Given the description of an element on the screen output the (x, y) to click on. 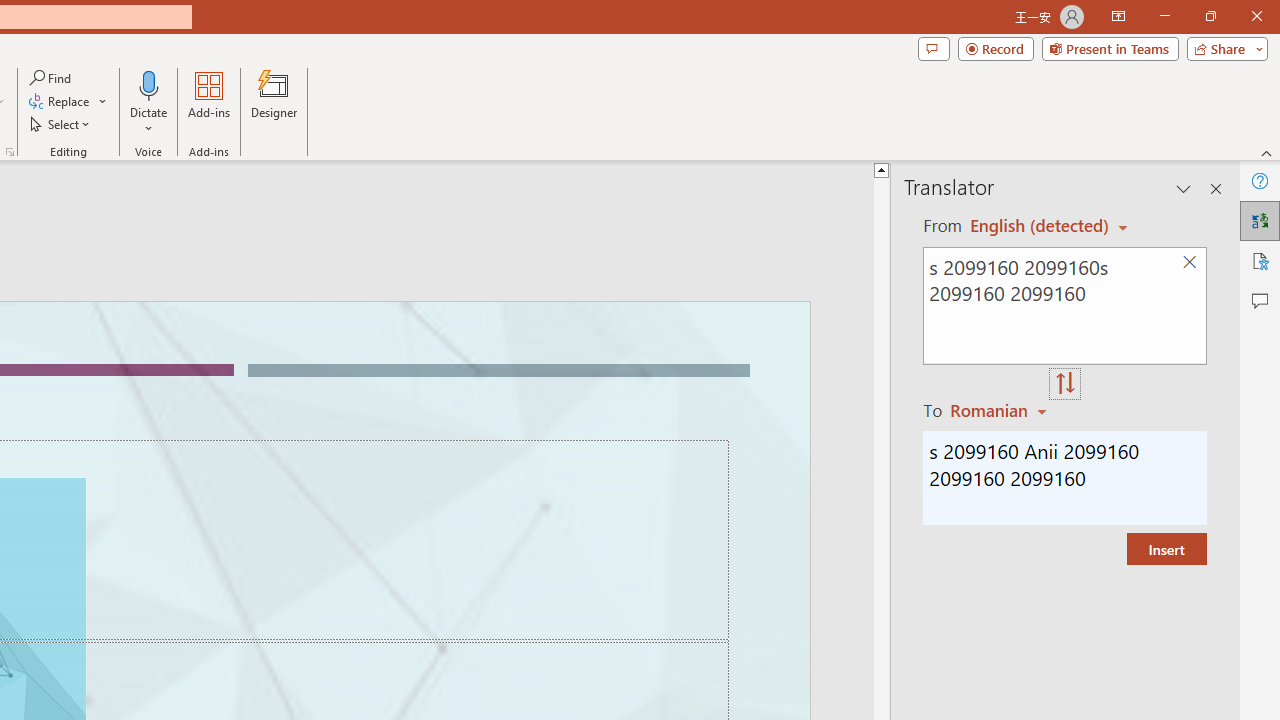
Class: ___1lmltc5 f1agt3bx f12qytpq (1092, 217)
